Given the description of an element on the screen output the (x, y) to click on. 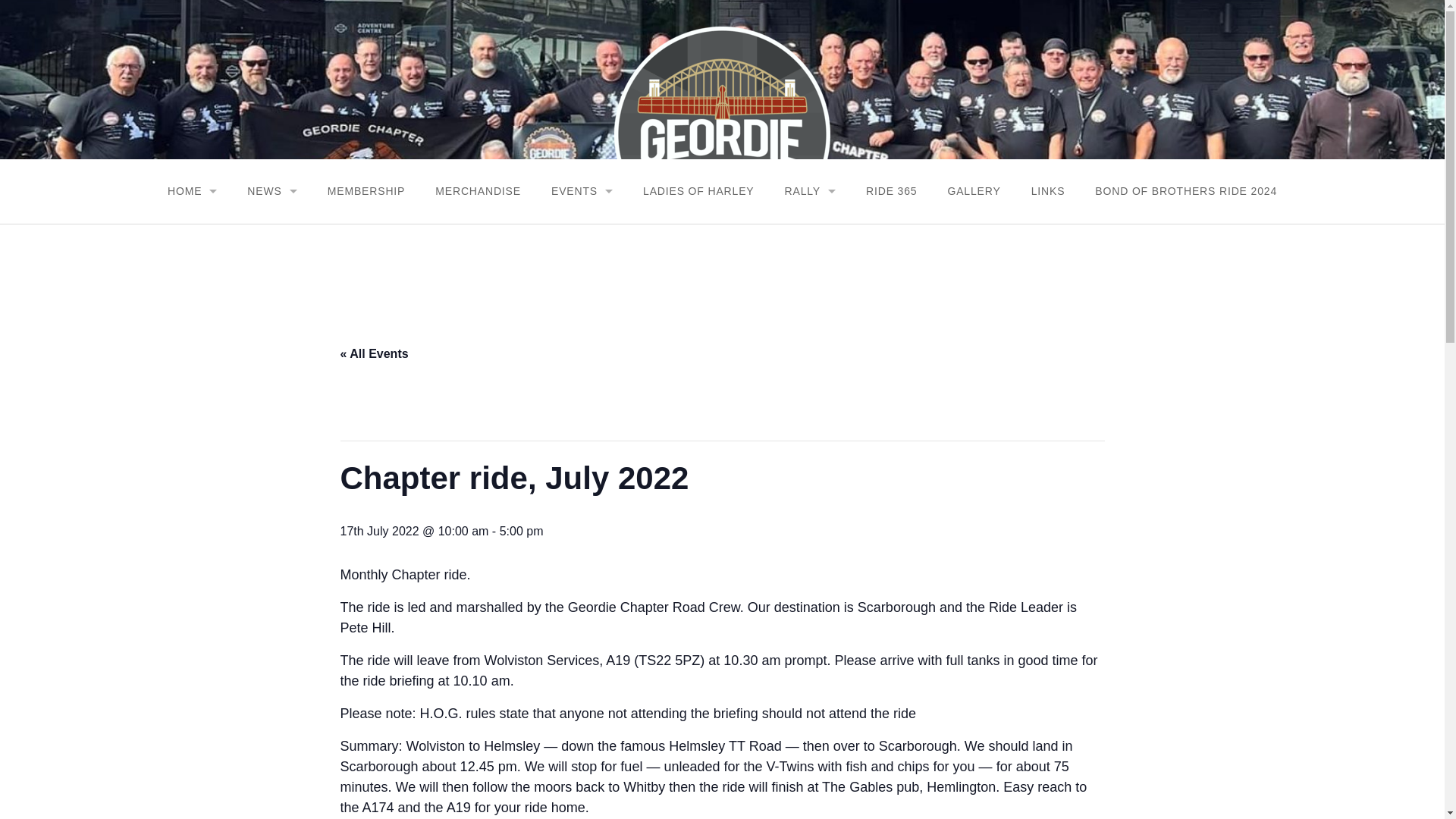
SOCIAL AND CHARITY EVENTS (582, 320)
EVENTS CALENDAR (582, 229)
ACCOMMODATION (810, 320)
NEWS (271, 190)
TICKETS (810, 229)
RIDE 365 (890, 190)
RALLY (809, 190)
NORTH EAST COALITION OF MOTORCYCLE CLUBS (582, 350)
CHAPTER MEETINGS (582, 259)
COMMITTEE (191, 259)
CHAPTER CHARTER (191, 290)
HOME (191, 190)
MEMBERSHIP (366, 190)
MESSAGE FROM OUR DIRECTOR (191, 229)
CHAPTER RIDE-OUTS (582, 290)
